Given the description of an element on the screen output the (x, y) to click on. 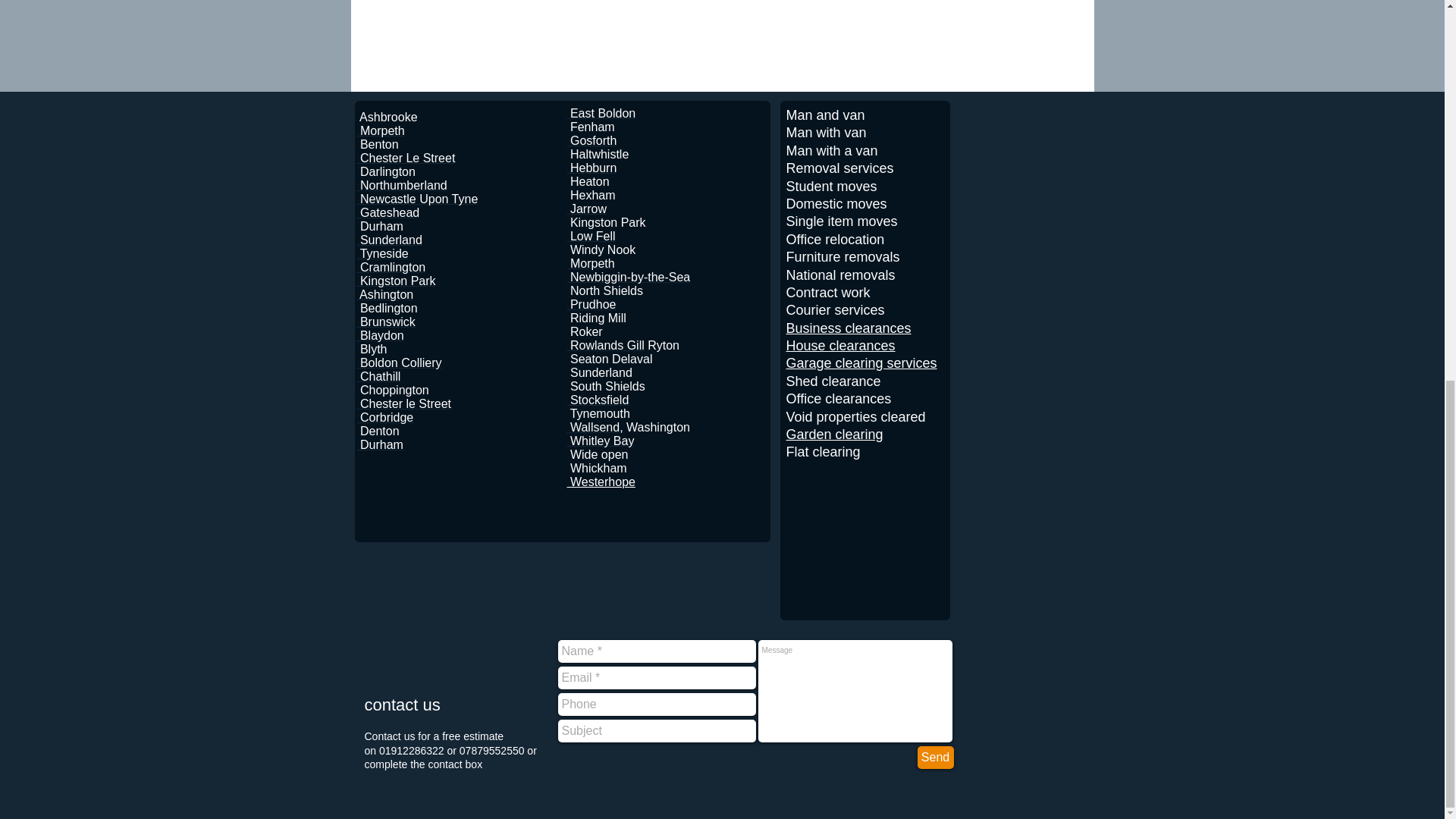
 Gosforth (592, 140)
 Corbridge (384, 417)
 Chester le Street (403, 403)
 Chathill (378, 376)
 East Boldon (601, 113)
Ashbrooke (388, 116)
 Bedlington (386, 308)
 Fenham (590, 126)
 Blyth (371, 349)
 Boldon Colliery (398, 362)
 Cramlington (390, 267)
 Brunswick (385, 321)
 Darlington (385, 171)
 Kingston Park (395, 280)
 Denton (377, 431)
